Given the description of an element on the screen output the (x, y) to click on. 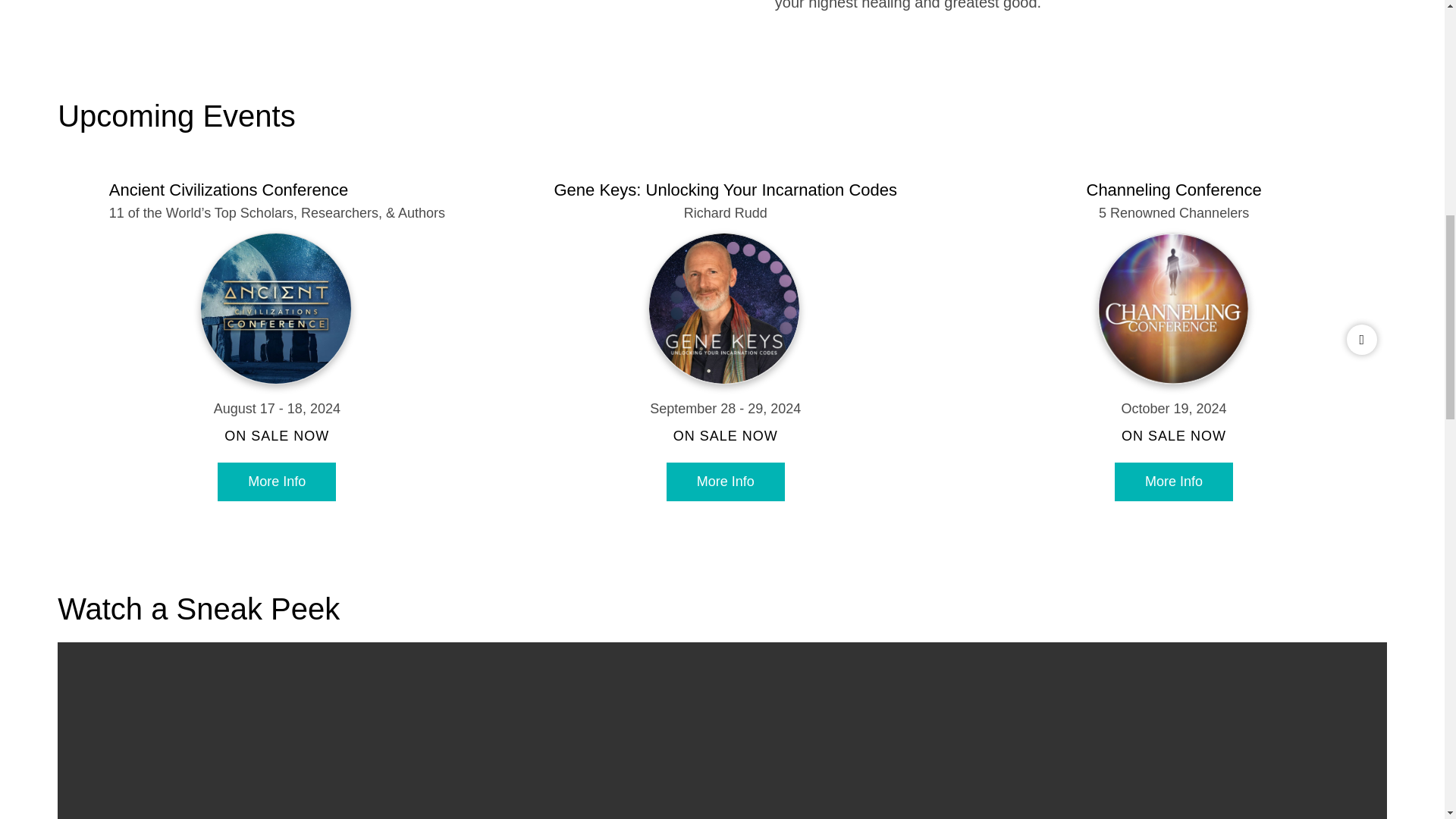
More Info (725, 481)
More Info (276, 481)
More Info (1174, 481)
